Given the description of an element on the screen output the (x, y) to click on. 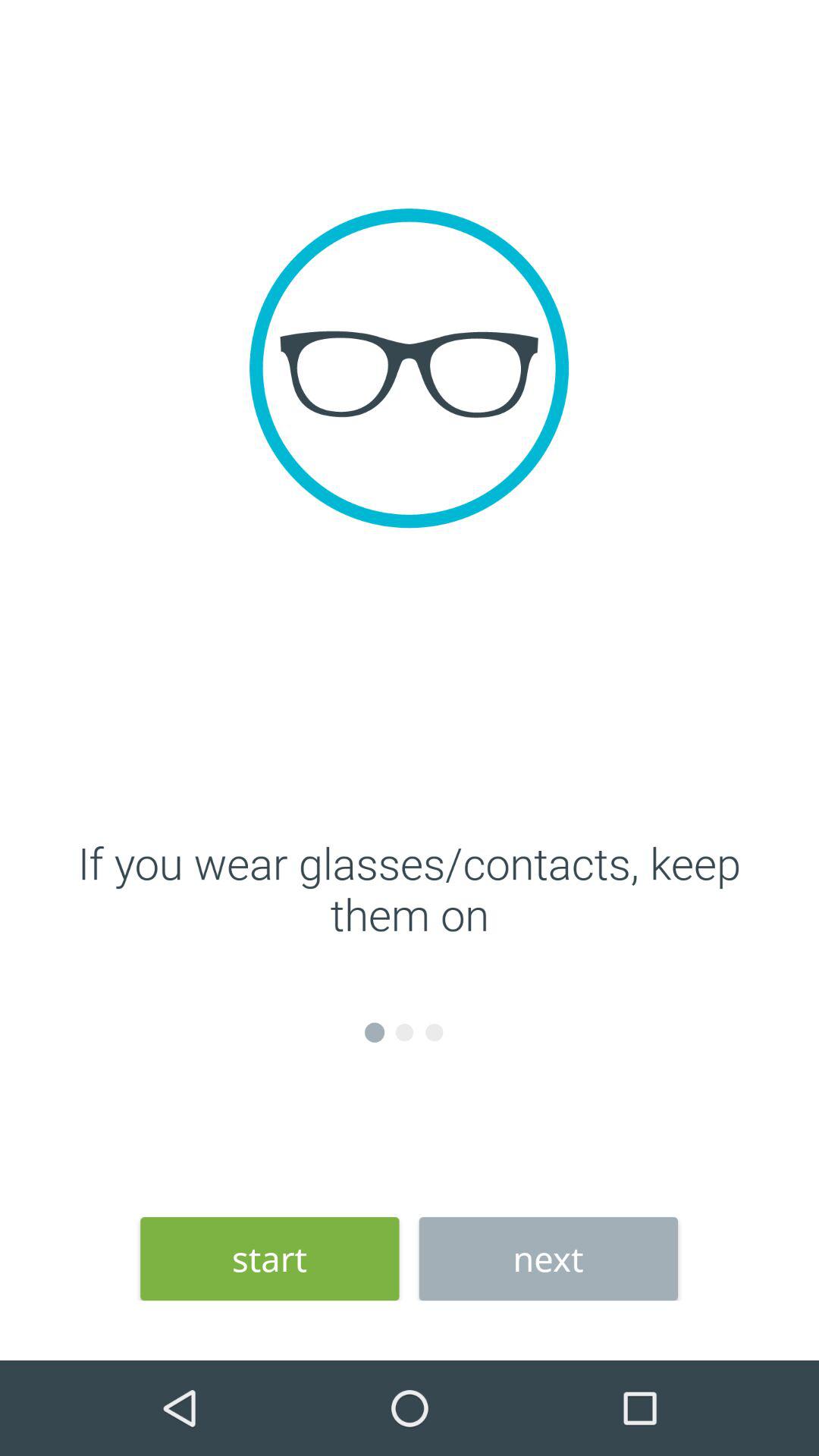
click the next at the bottom right corner (548, 1258)
